Given the description of an element on the screen output the (x, y) to click on. 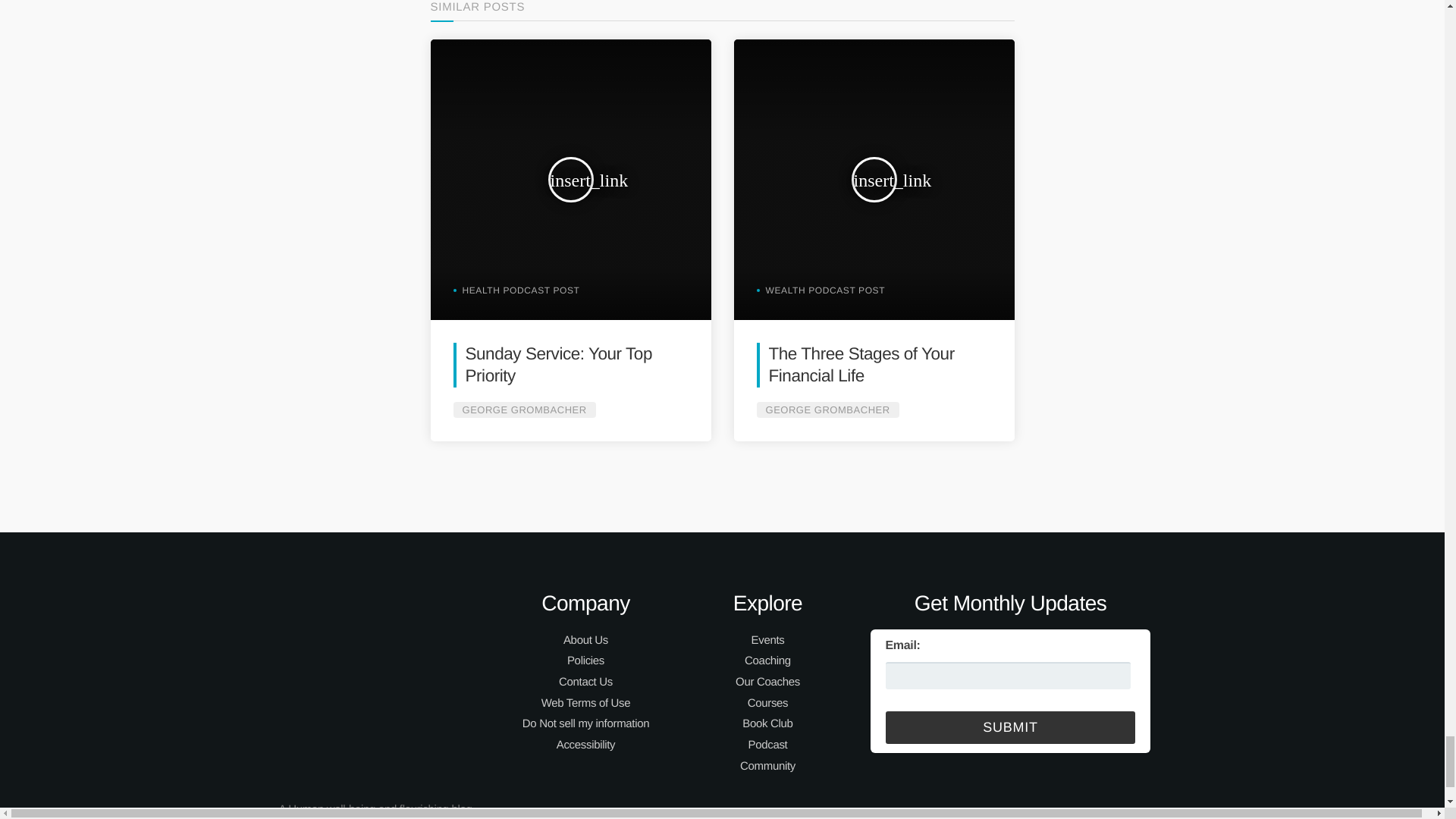
Submit (1010, 727)
